Given the description of an element on the screen output the (x, y) to click on. 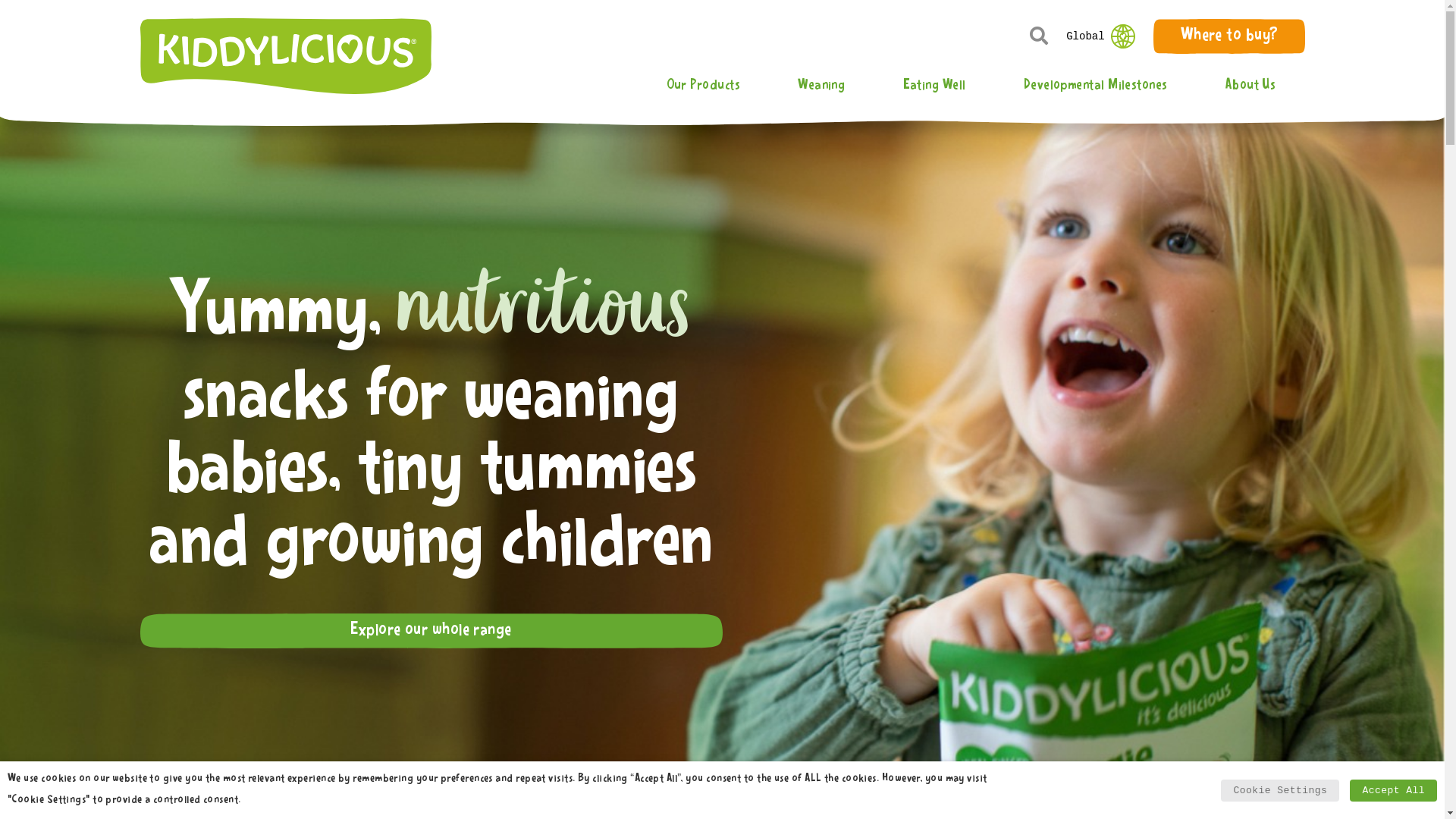
Developmental Milestones Element type: text (1095, 84)
Accept All Element type: text (1393, 790)
Weaning Element type: text (821, 84)
Cookie Settings Element type: text (1279, 790)
Explore our whole range Element type: text (430, 630)
Eating Well Element type: text (933, 84)
Our Products Element type: text (702, 84)
Global Element type: text (1100, 36)
Where to buy? Element type: text (1229, 35)
